Given the description of an element on the screen output the (x, y) to click on. 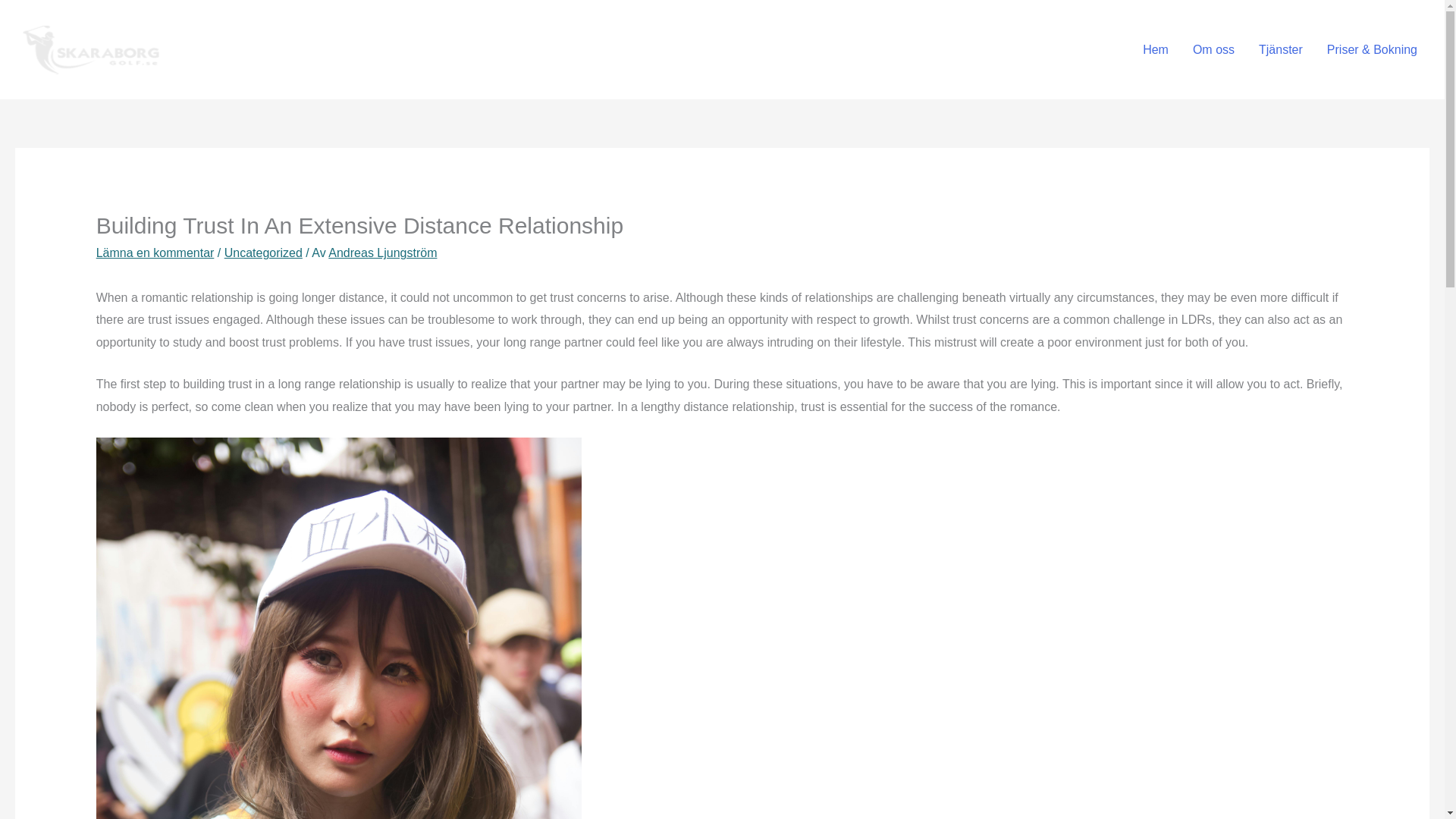
Uncategorized (263, 252)
Om oss (1213, 49)
Hem (1155, 49)
